Given the description of an element on the screen output the (x, y) to click on. 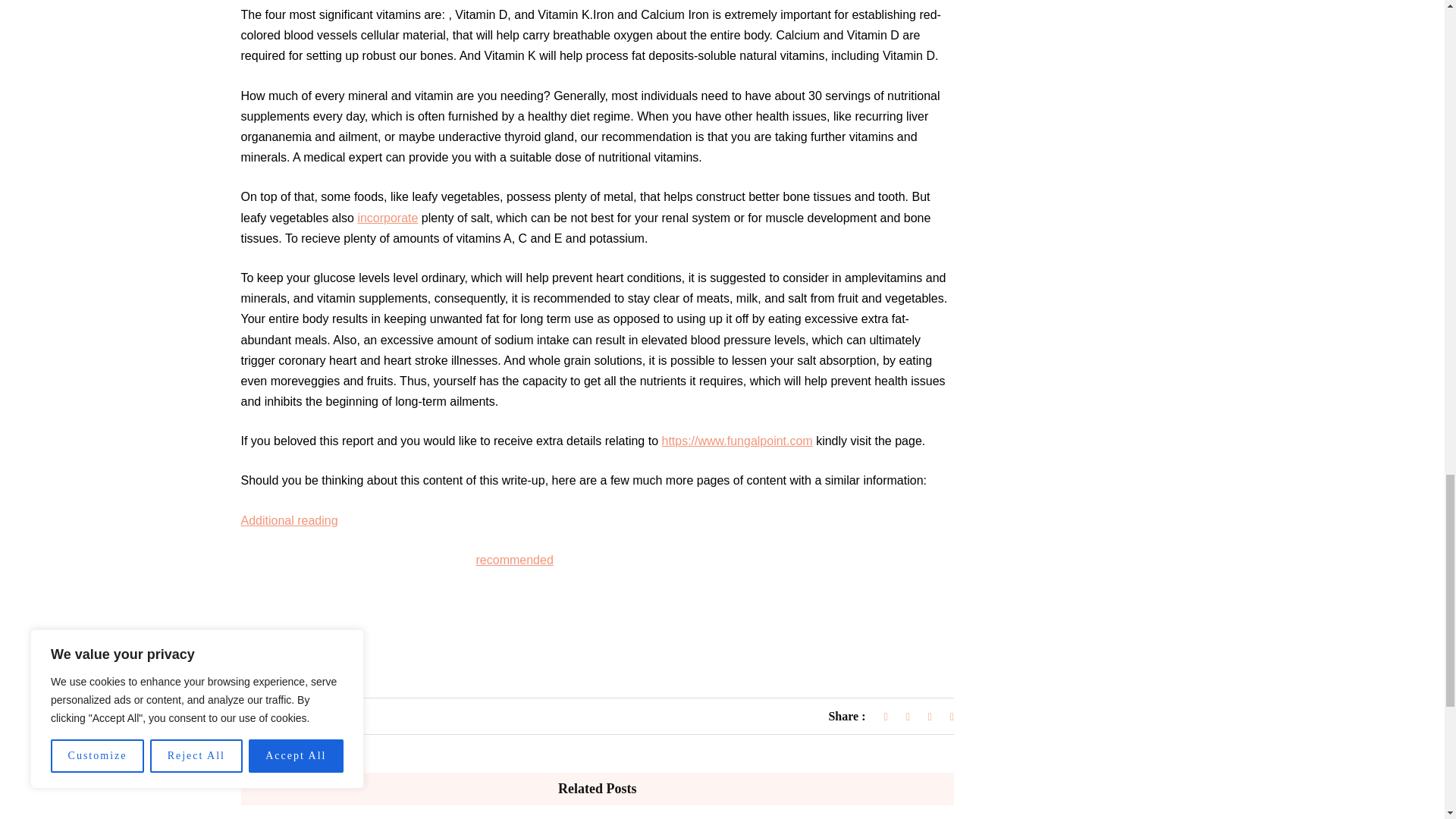
recommended (514, 559)
MEDIA (269, 716)
Additional reading (289, 520)
incorporate (386, 217)
